Given the description of an element on the screen output the (x, y) to click on. 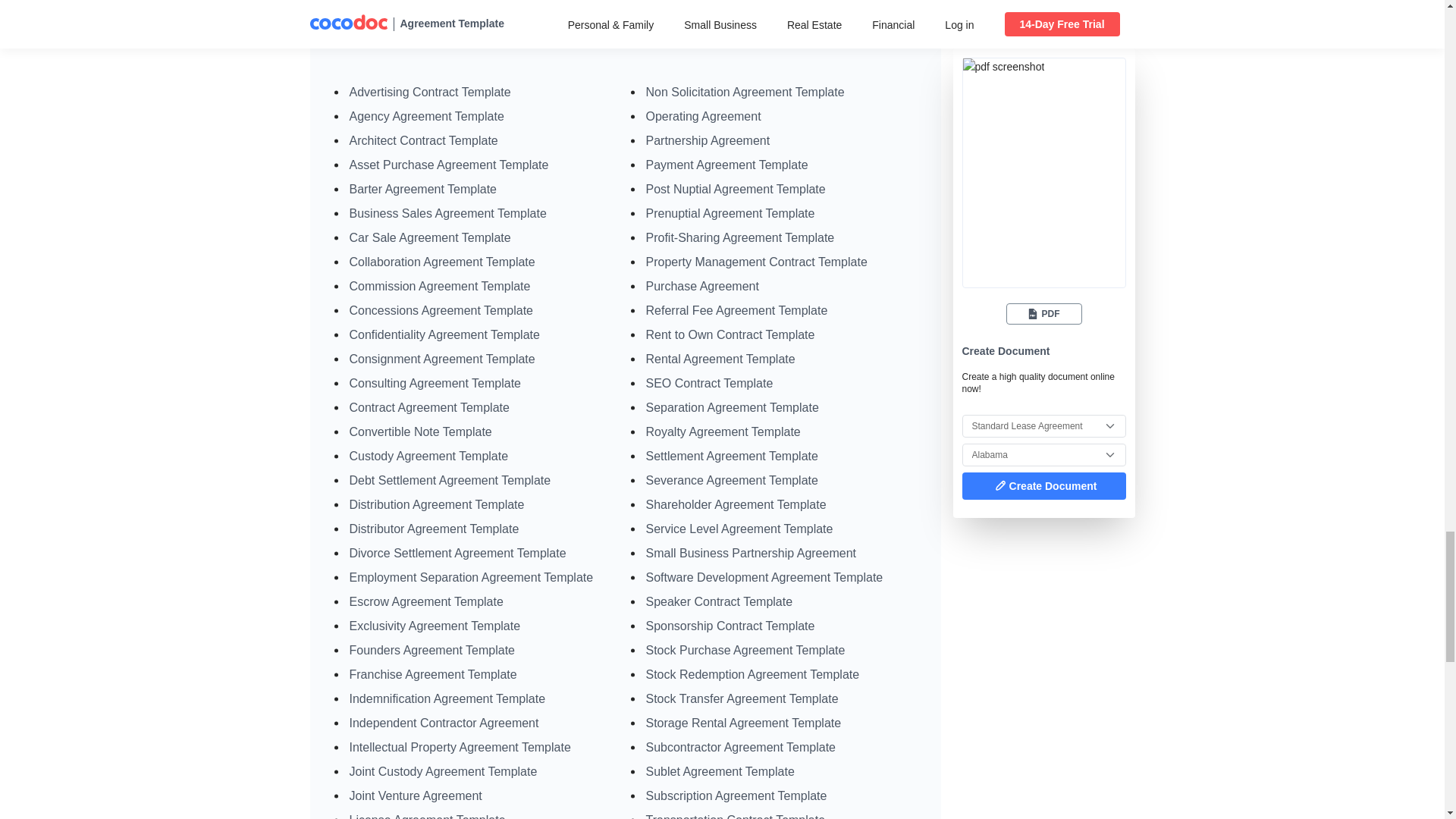
Escrow Agreement Template (425, 601)
Convertible Note Template (420, 431)
Agency Agreement Template (426, 115)
Custody Agreement Template (428, 455)
Founders Agreement Template (432, 649)
Distributor Agreement Template (433, 528)
Employment Separation Agreement Template (470, 576)
Consignment Agreement Template (441, 358)
Consulting Agreement Template (435, 382)
Commission Agreement Template (439, 286)
Barter Agreement Template (422, 188)
Car Sale Agreement Template (430, 237)
Franchise Agreement Template (432, 674)
Divorce Settlement Agreement Template (457, 553)
Distribution Agreement Template (436, 504)
